Given the description of an element on the screen output the (x, y) to click on. 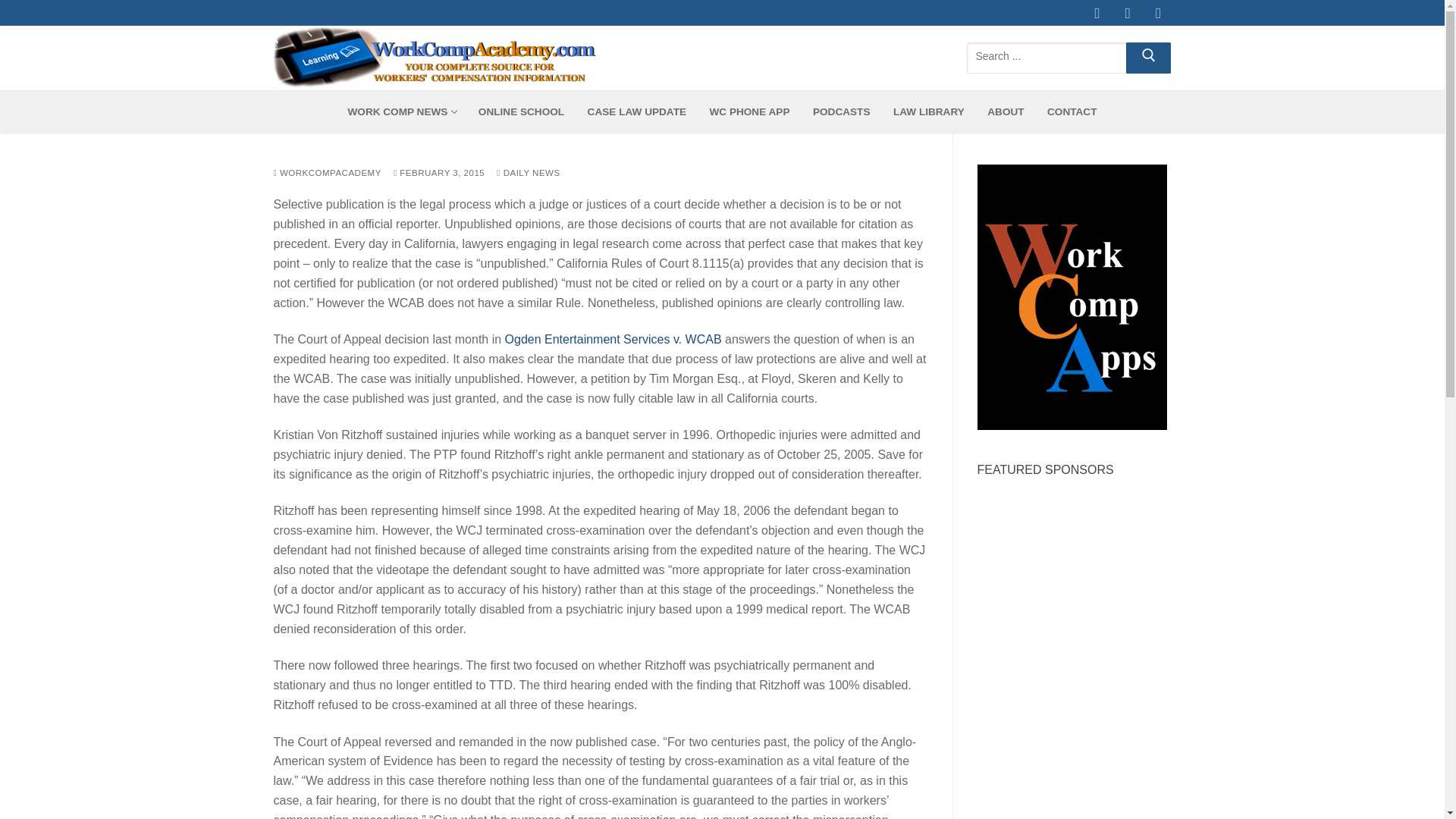
ABOUT (1004, 111)
CASE LAW UPDATE (636, 111)
PODCASTS (841, 111)
FEBRUARY 3, 2015 (438, 172)
Facebook (1097, 12)
WORKCOMPACADEMY (400, 111)
CONTACT (326, 172)
Search for: (1071, 111)
WC PHONE APP (1062, 55)
Twitter (748, 111)
LinkedIn (1128, 12)
DAILY NEWS (1158, 12)
LAW LIBRARY (527, 172)
ONLINE SCHOOL (928, 111)
